Given the description of an element on the screen output the (x, y) to click on. 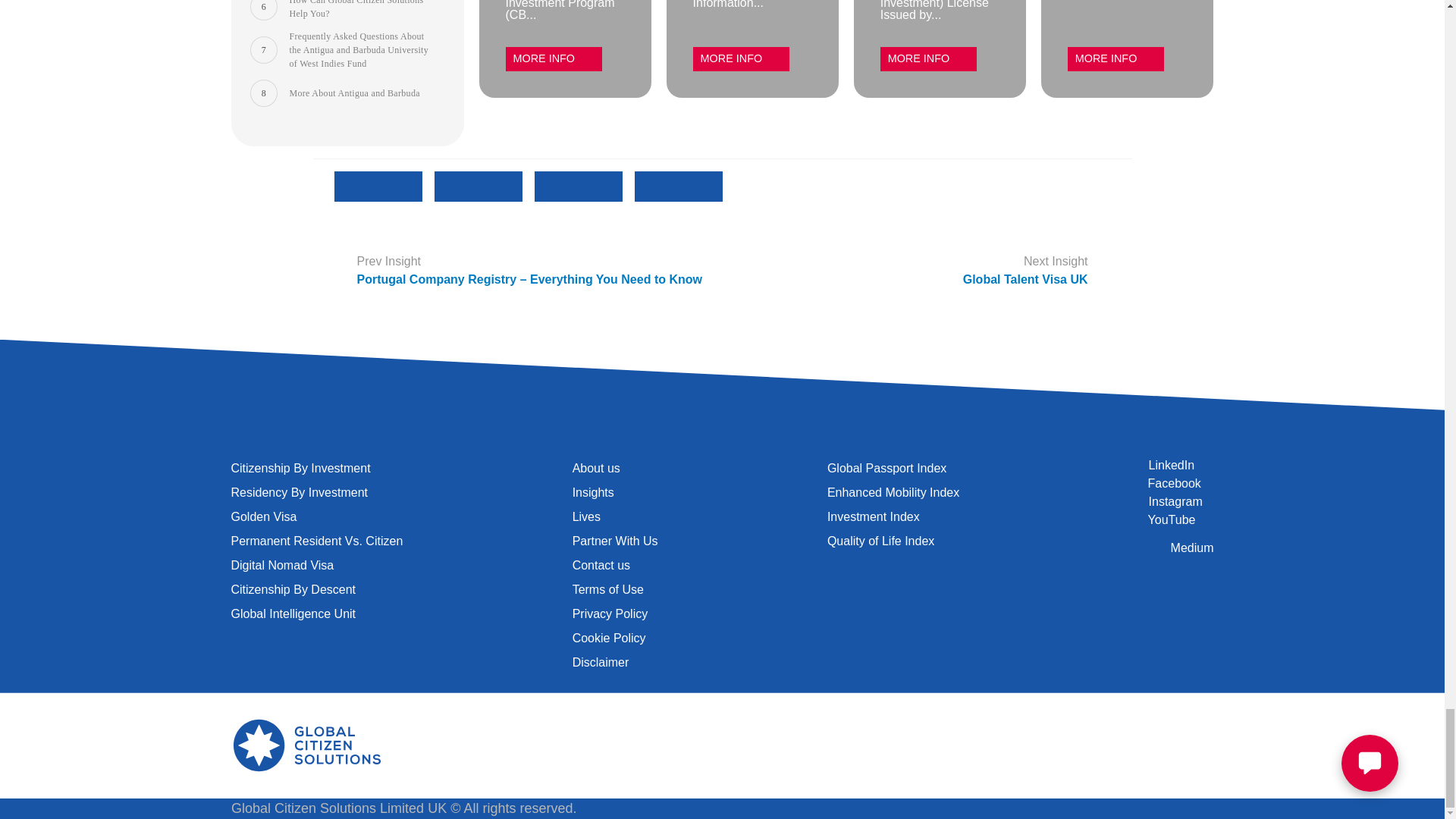
Share on Pinterest (578, 232)
Share on Facebook (377, 232)
Share on Twitter (477, 232)
Share on LinkedIn (678, 232)
